Given the description of an element on the screen output the (x, y) to click on. 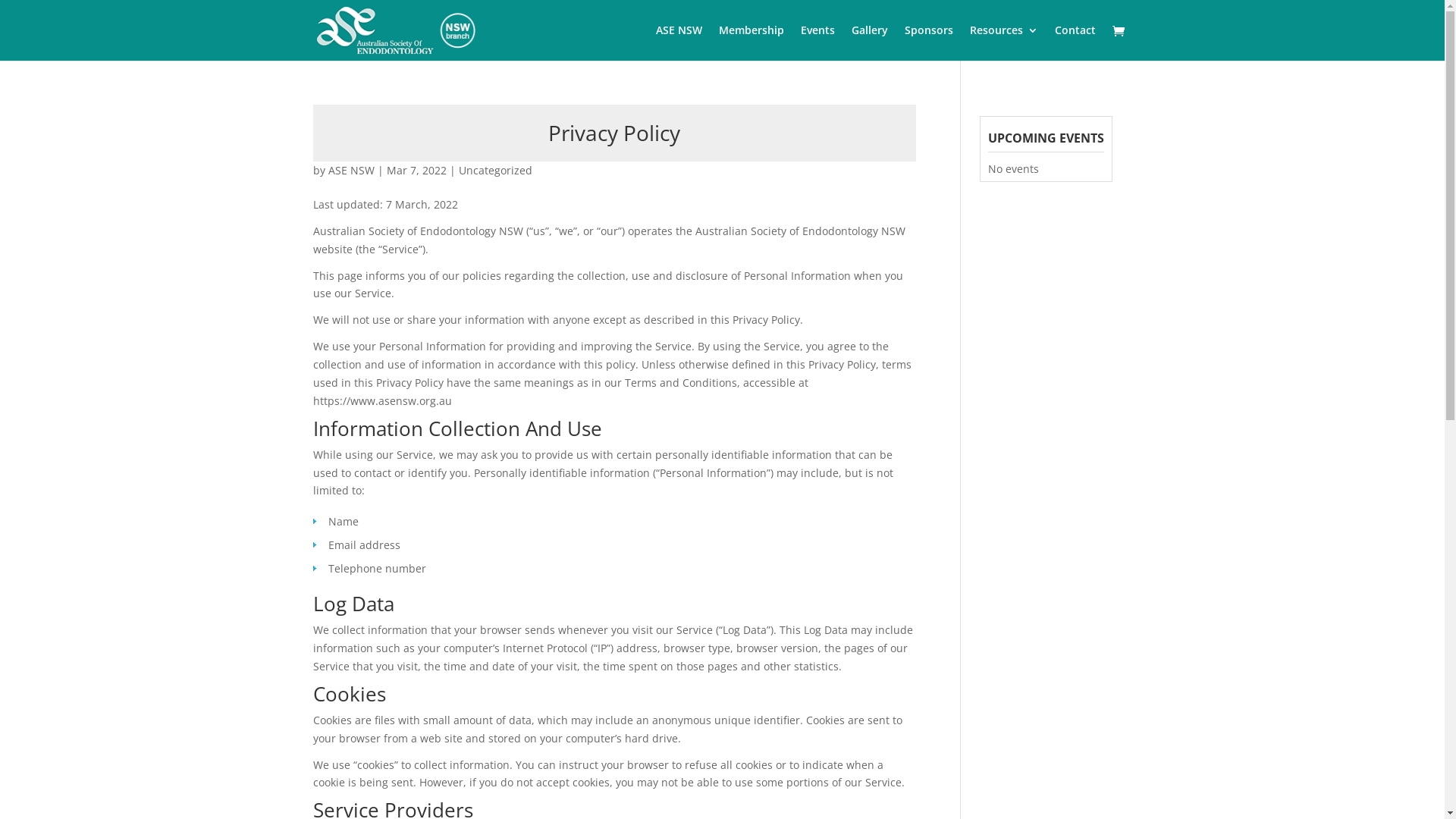
Contact Element type: text (1074, 42)
Resources Element type: text (1003, 42)
Sponsors Element type: text (927, 42)
Membership Element type: text (751, 42)
ASE NSW Element type: text (678, 42)
Gallery Element type: text (868, 42)
Events Element type: text (817, 42)
ASE NSW Element type: text (350, 170)
